Given the description of an element on the screen output the (x, y) to click on. 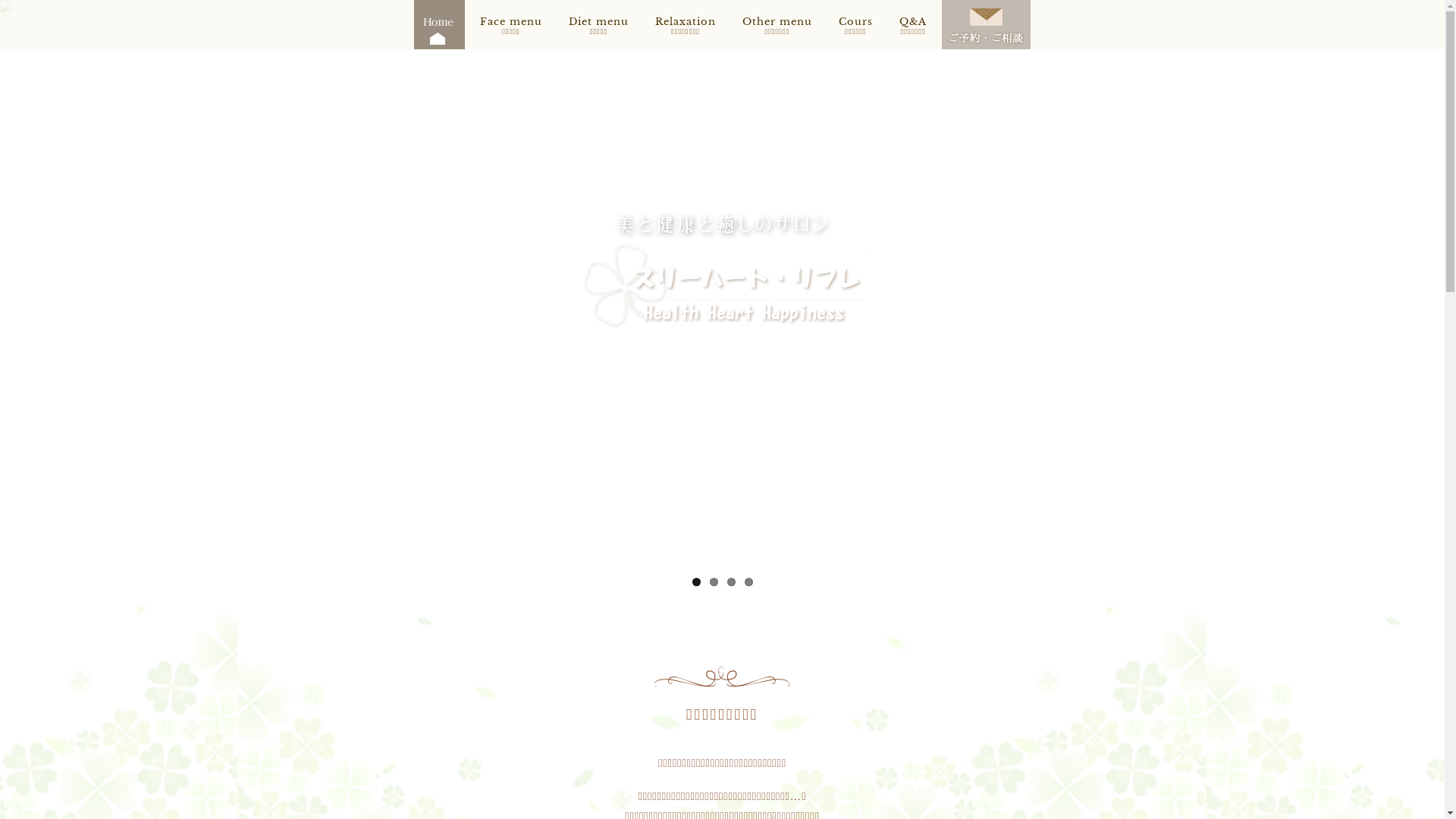
2 Element type: text (713, 581)
3 Element type: text (730, 581)
1 Element type: text (695, 581)
4 Element type: text (748, 581)
